Given the description of an element on the screen output the (x, y) to click on. 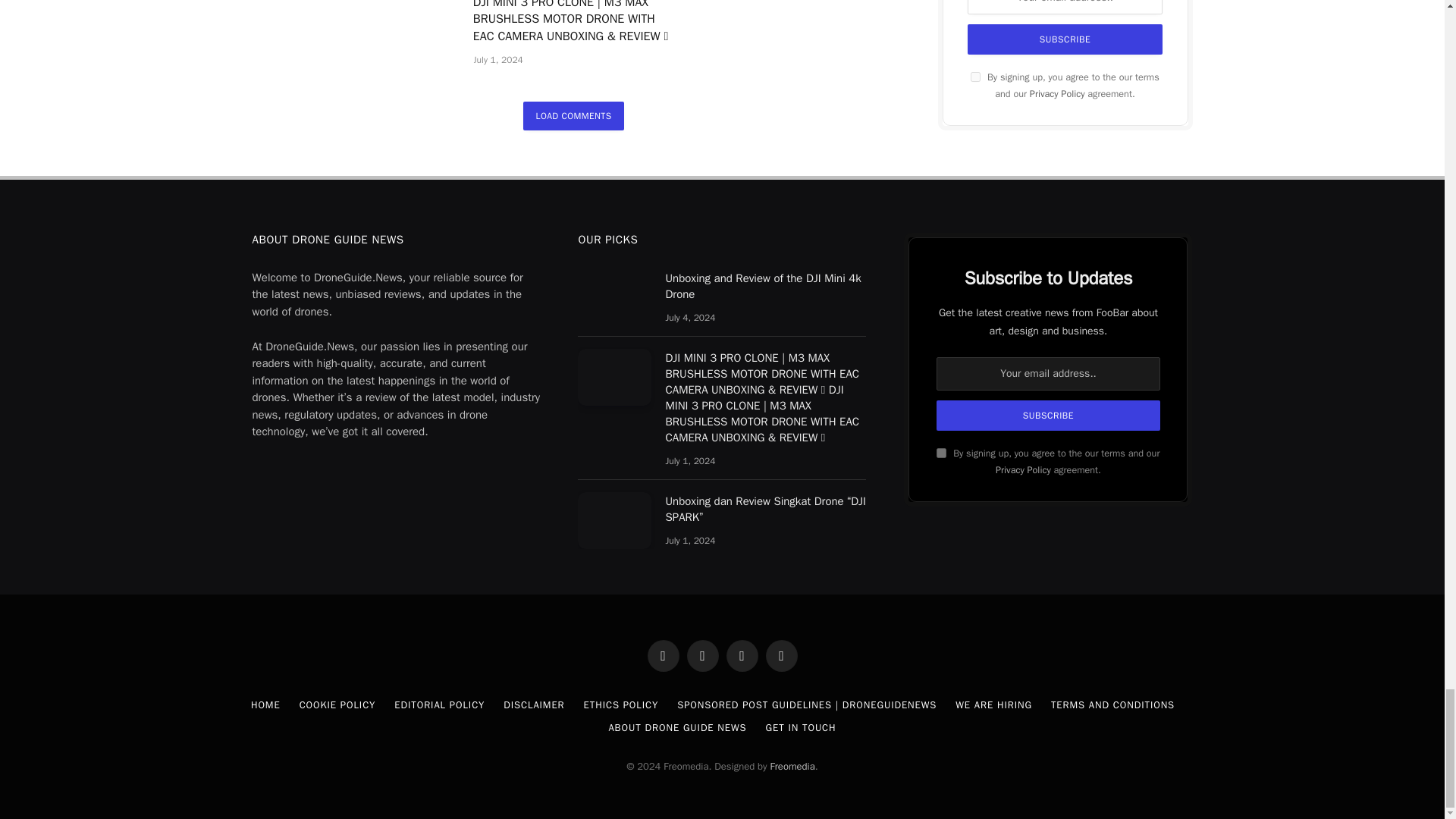
on (941, 452)
Subscribe (1047, 415)
